Given the description of an element on the screen output the (x, y) to click on. 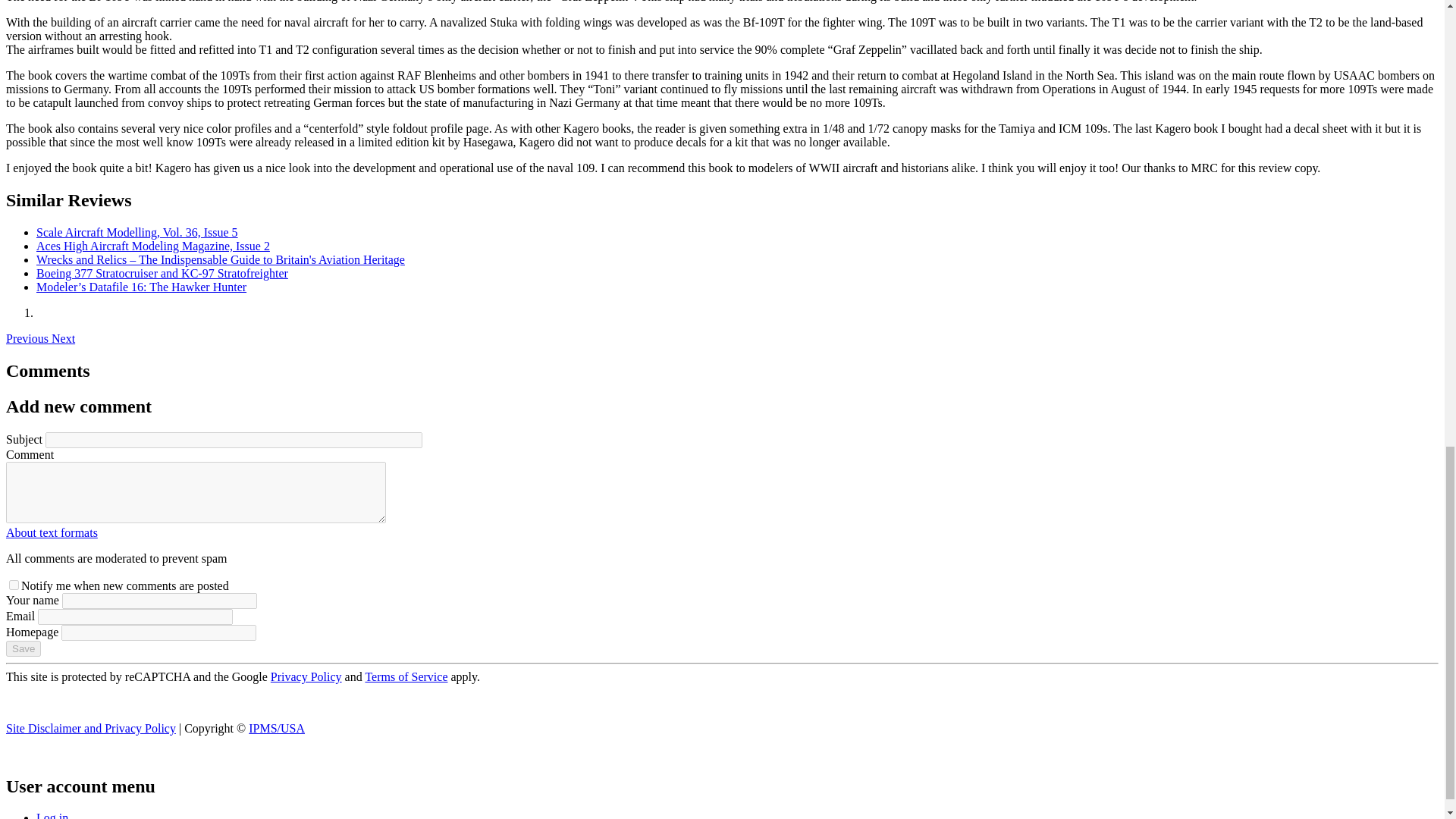
Aces High Aircraft Modeling Magazine, Issue 2 (152, 245)
1 (13, 584)
Next (62, 338)
About text formats (51, 532)
Opens in new window (51, 532)
Scale Aircraft Modelling, Vol. 36, Issue 5 (137, 232)
Previous (27, 338)
Boeing 377 Stratocruiser and KC-97 Stratofreighter (162, 273)
